Given the description of an element on the screen output the (x, y) to click on. 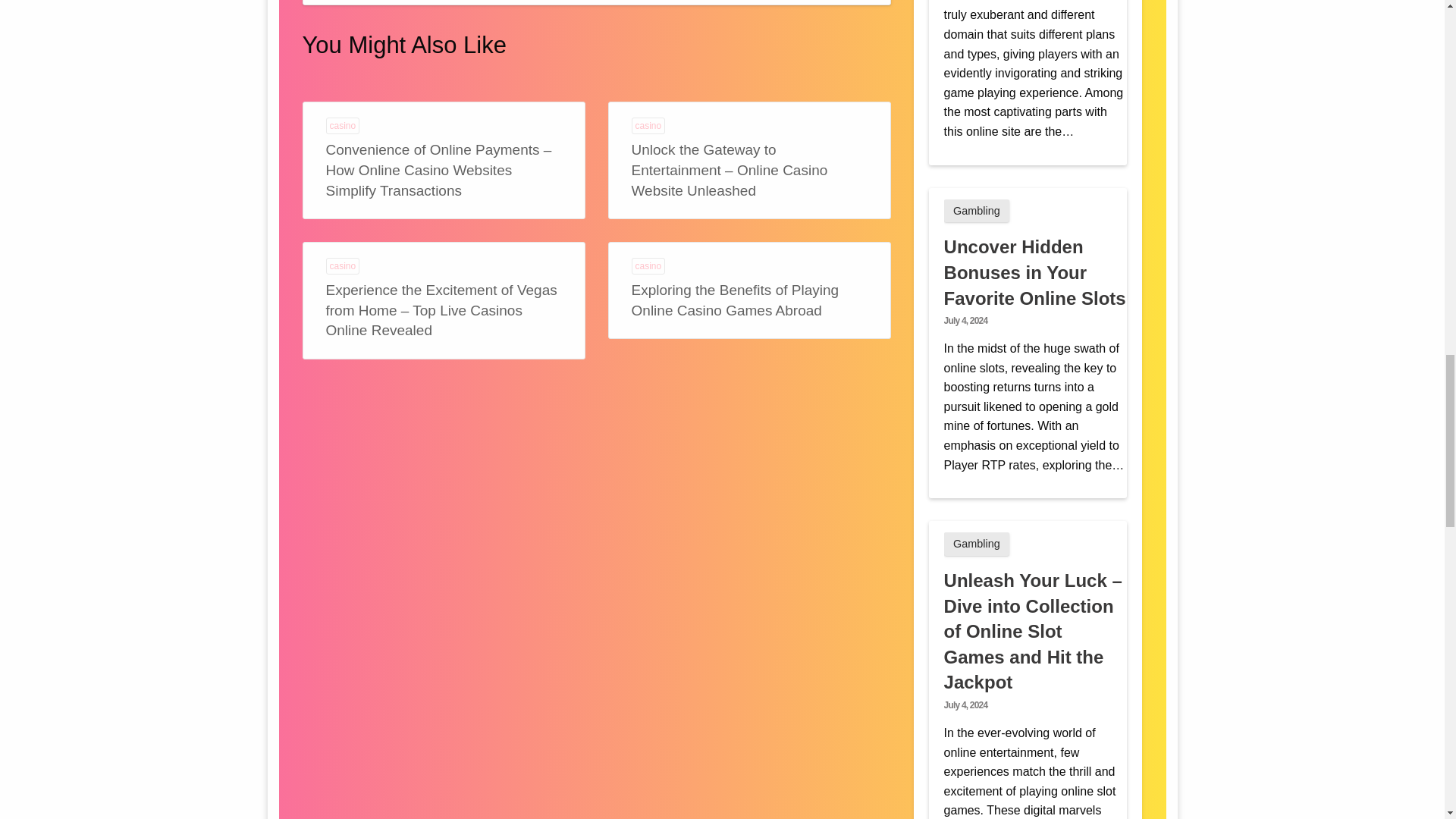
casino (342, 125)
Exploring the Benefits of Playing Online Casino Games Abroad (735, 299)
casino (342, 265)
casino (648, 265)
casino (648, 125)
